Given the description of an element on the screen output the (x, y) to click on. 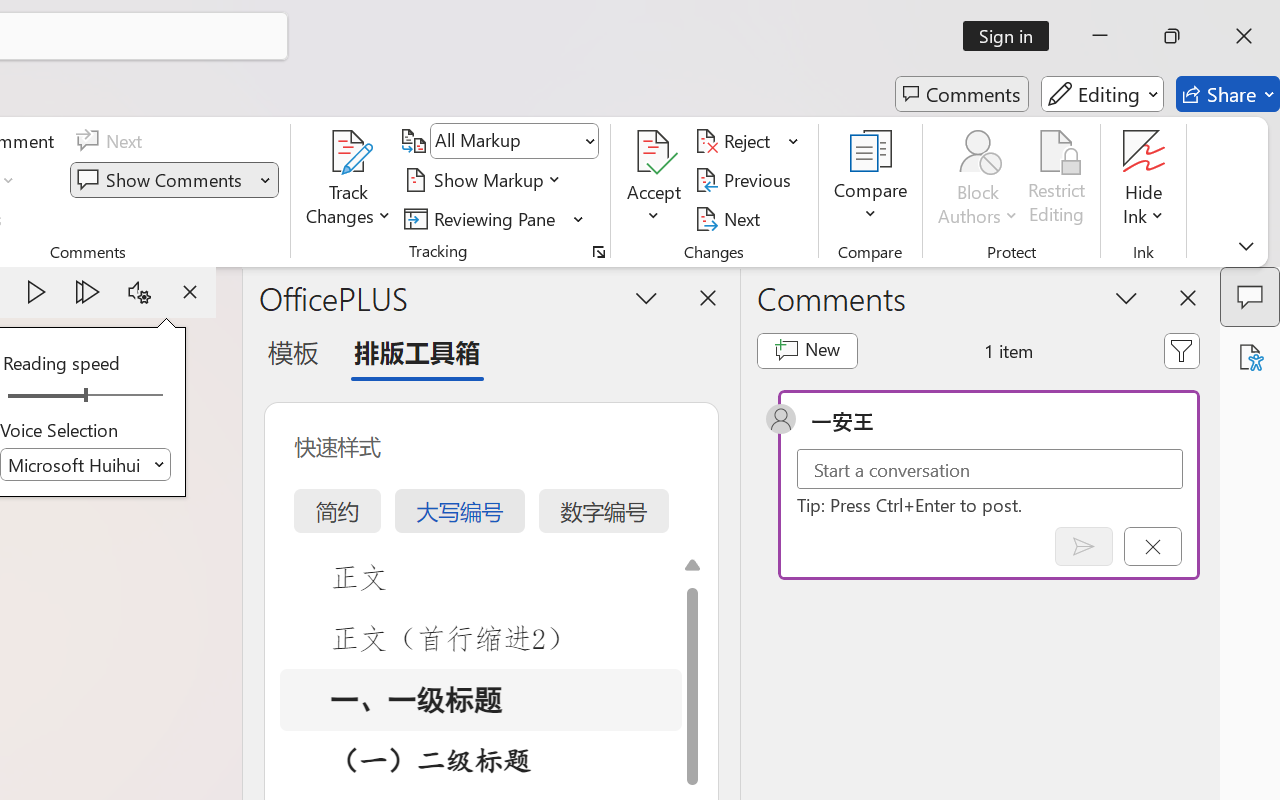
Stop (190, 292)
Sign in (1012, 35)
Restrict Editing (1057, 179)
Track Changes (349, 179)
Hide Ink (1144, 179)
Reviewing Pane (494, 218)
Track Changes (349, 151)
Compare (870, 179)
Page left (40, 395)
Accept and Move to Next (653, 151)
